Given the description of an element on the screen output the (x, y) to click on. 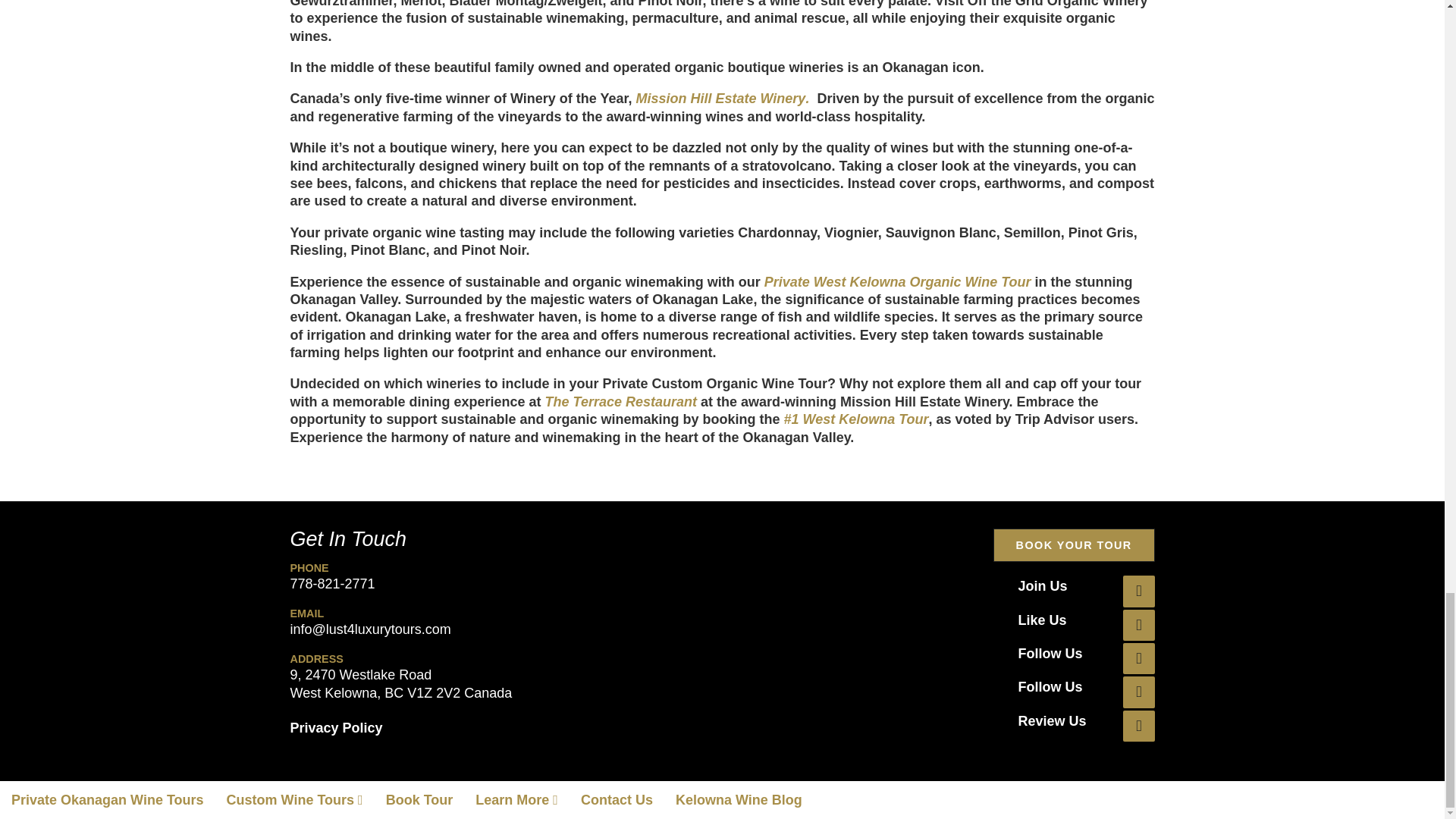
The Terrace Restaurant (620, 401)
Mission Hill Estate Winery (719, 98)
778-821-2771 (331, 583)
Private West Kelowna Organic Wine Tour (897, 281)
